Given the description of an element on the screen output the (x, y) to click on. 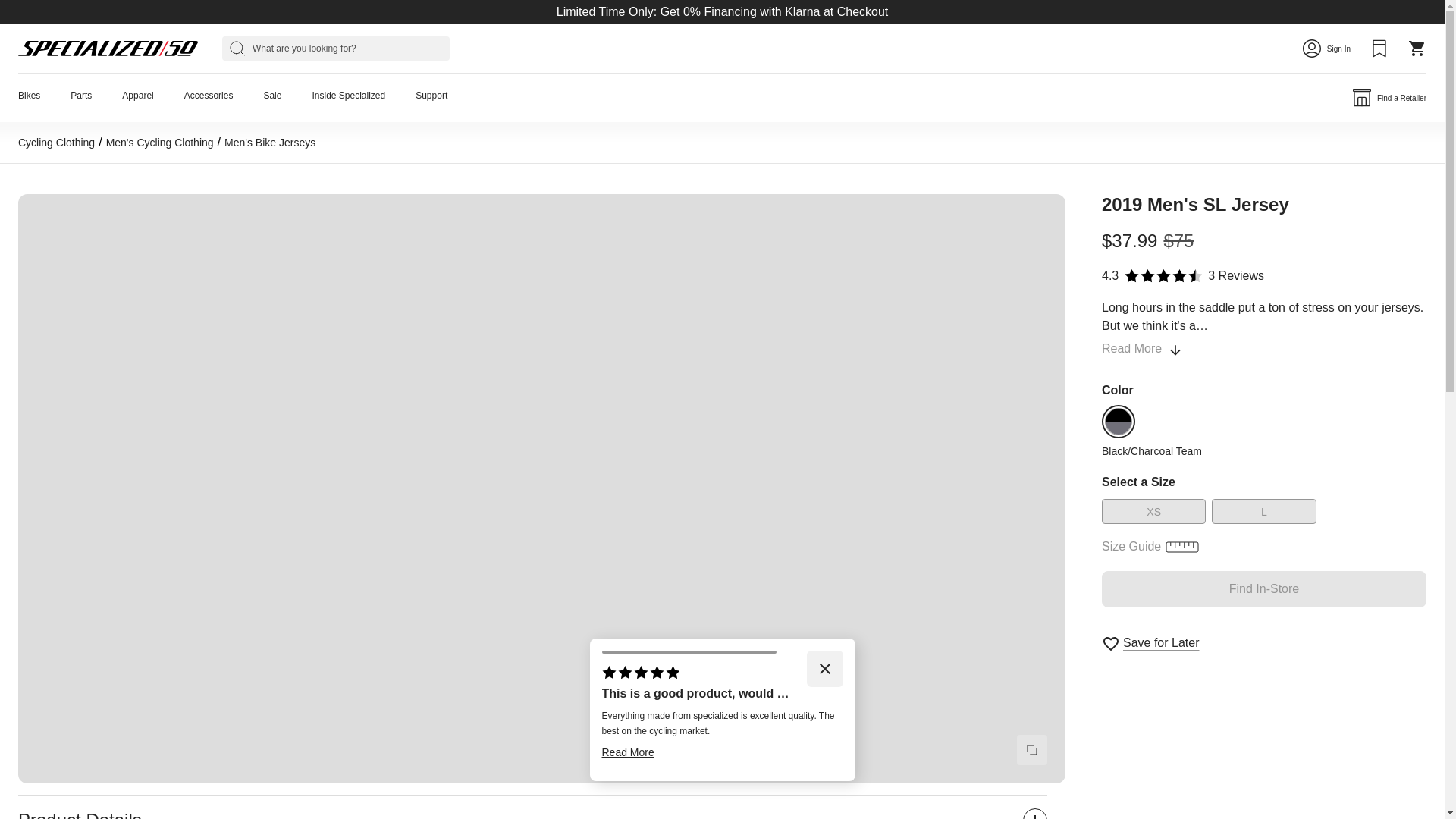
Sign In (1327, 48)
Find a Retailer (1389, 97)
Cart Icon (1416, 48)
Cart Icon (1416, 48)
